Given the description of an element on the screen output the (x, y) to click on. 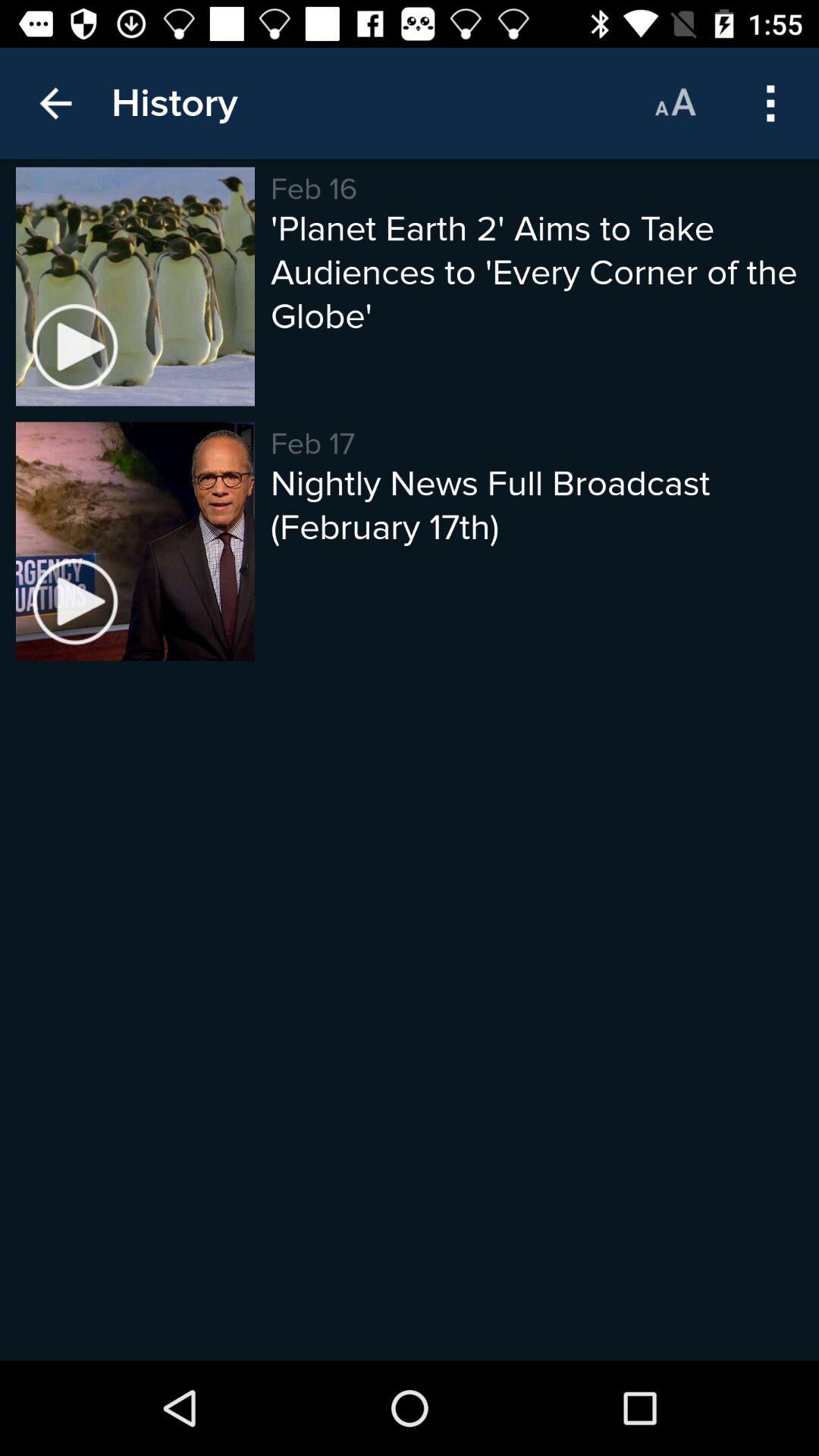
open the item to the right of history icon (674, 103)
